Given the description of an element on the screen output the (x, y) to click on. 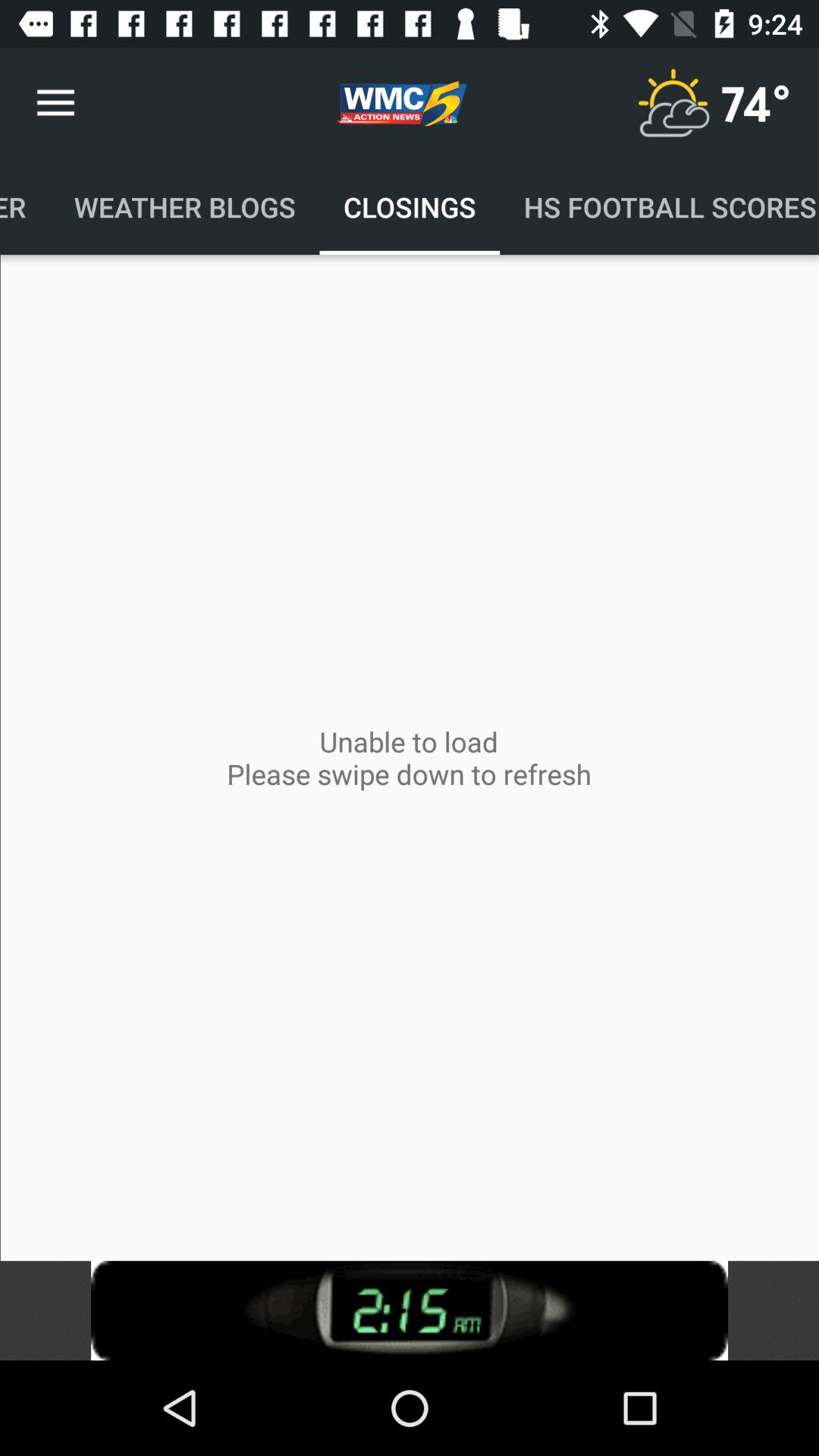
time (409, 1310)
